Given the description of an element on the screen output the (x, y) to click on. 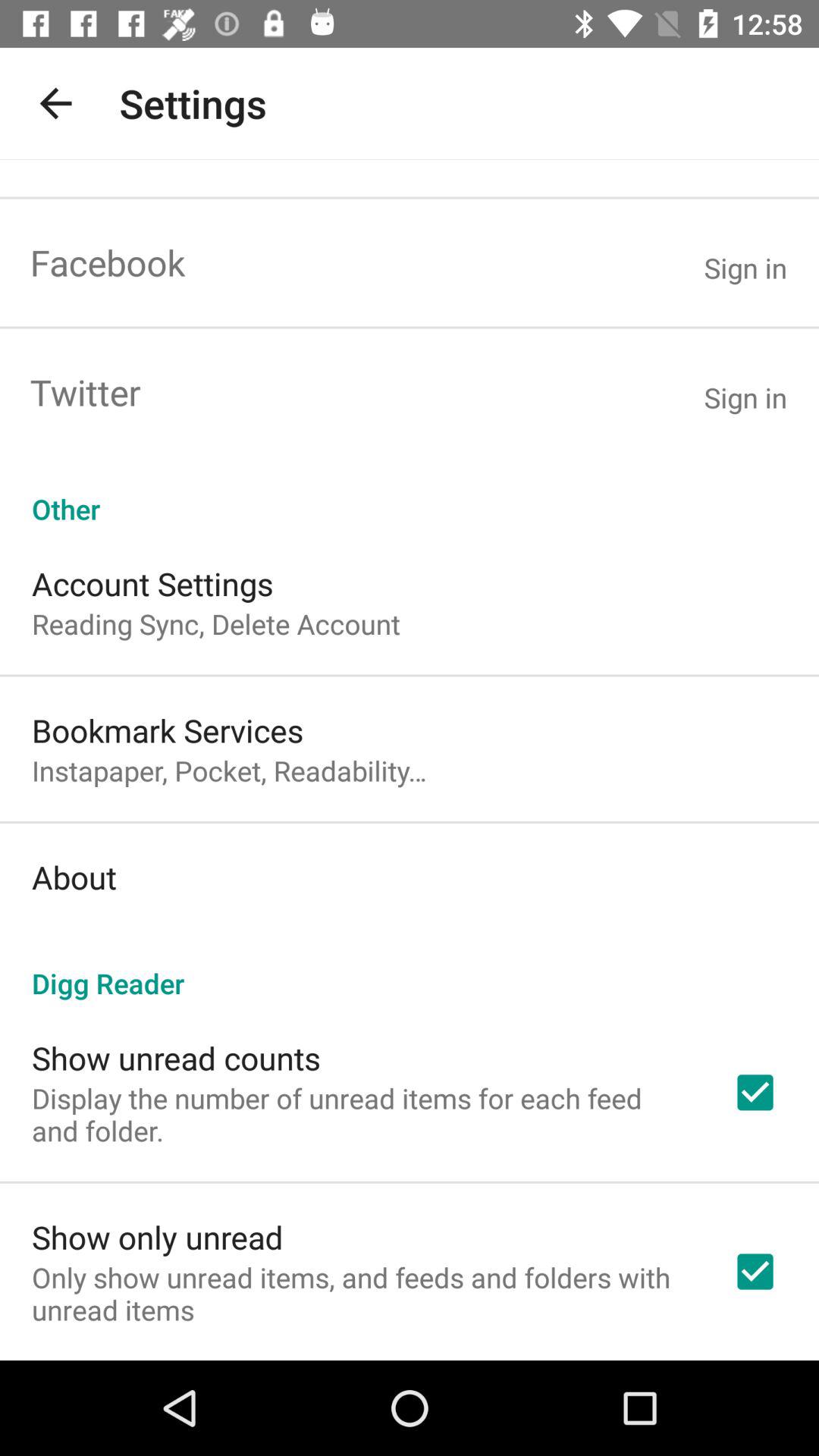
select account settings icon (152, 583)
